Given the description of an element on the screen output the (x, y) to click on. 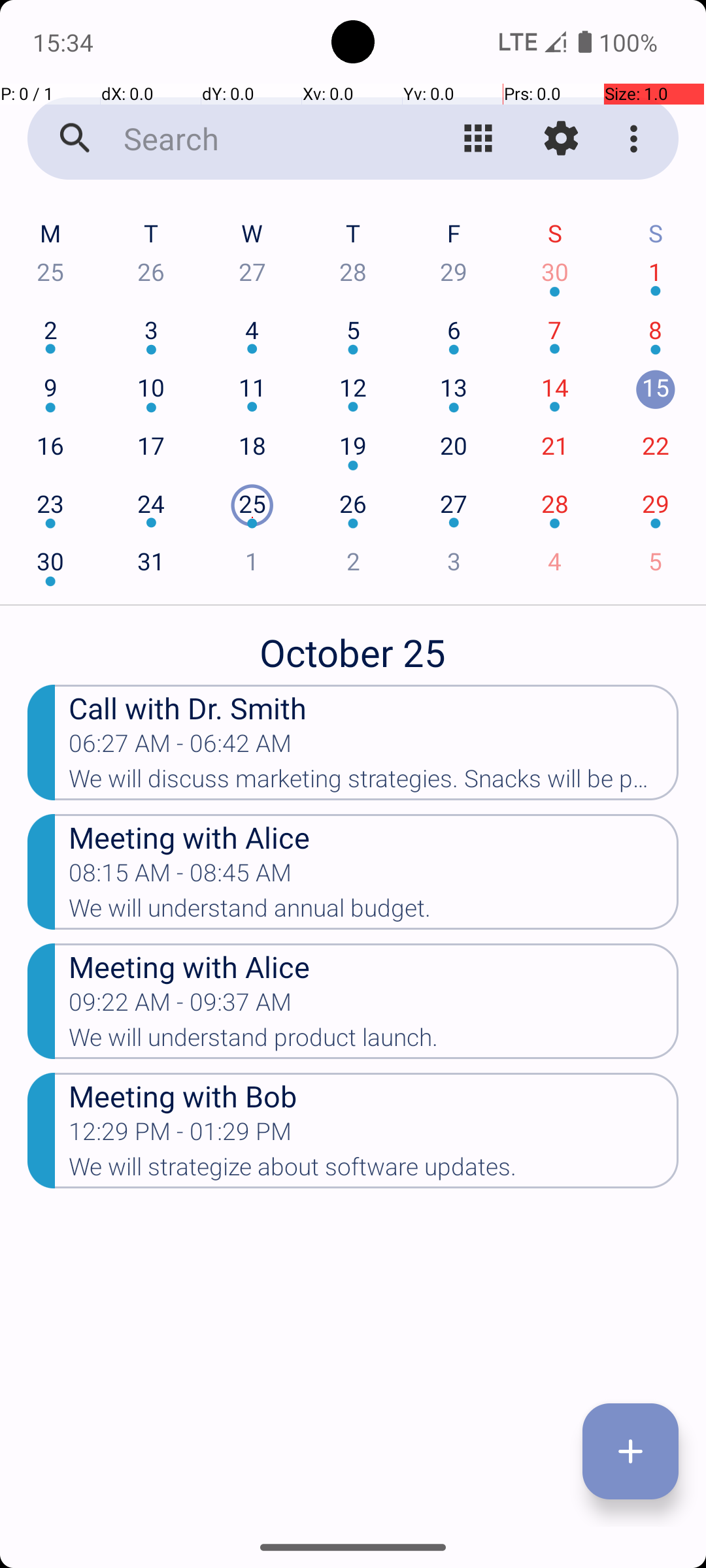
October 25 Element type: android.widget.TextView (352, 644)
06:27 AM - 06:42 AM Element type: android.widget.TextView (179, 747)
We will discuss marketing strategies. Snacks will be provided. Element type: android.widget.TextView (373, 782)
Meeting with Alice Element type: android.widget.TextView (373, 836)
08:15 AM - 08:45 AM Element type: android.widget.TextView (179, 876)
We will understand annual budget. Element type: android.widget.TextView (373, 911)
09:22 AM - 09:37 AM Element type: android.widget.TextView (179, 1005)
We will understand product launch. Element type: android.widget.TextView (373, 1041)
12:29 PM - 01:29 PM Element type: android.widget.TextView (179, 1135)
We will strategize about software updates. Element type: android.widget.TextView (373, 1170)
